Given the description of an element on the screen output the (x, y) to click on. 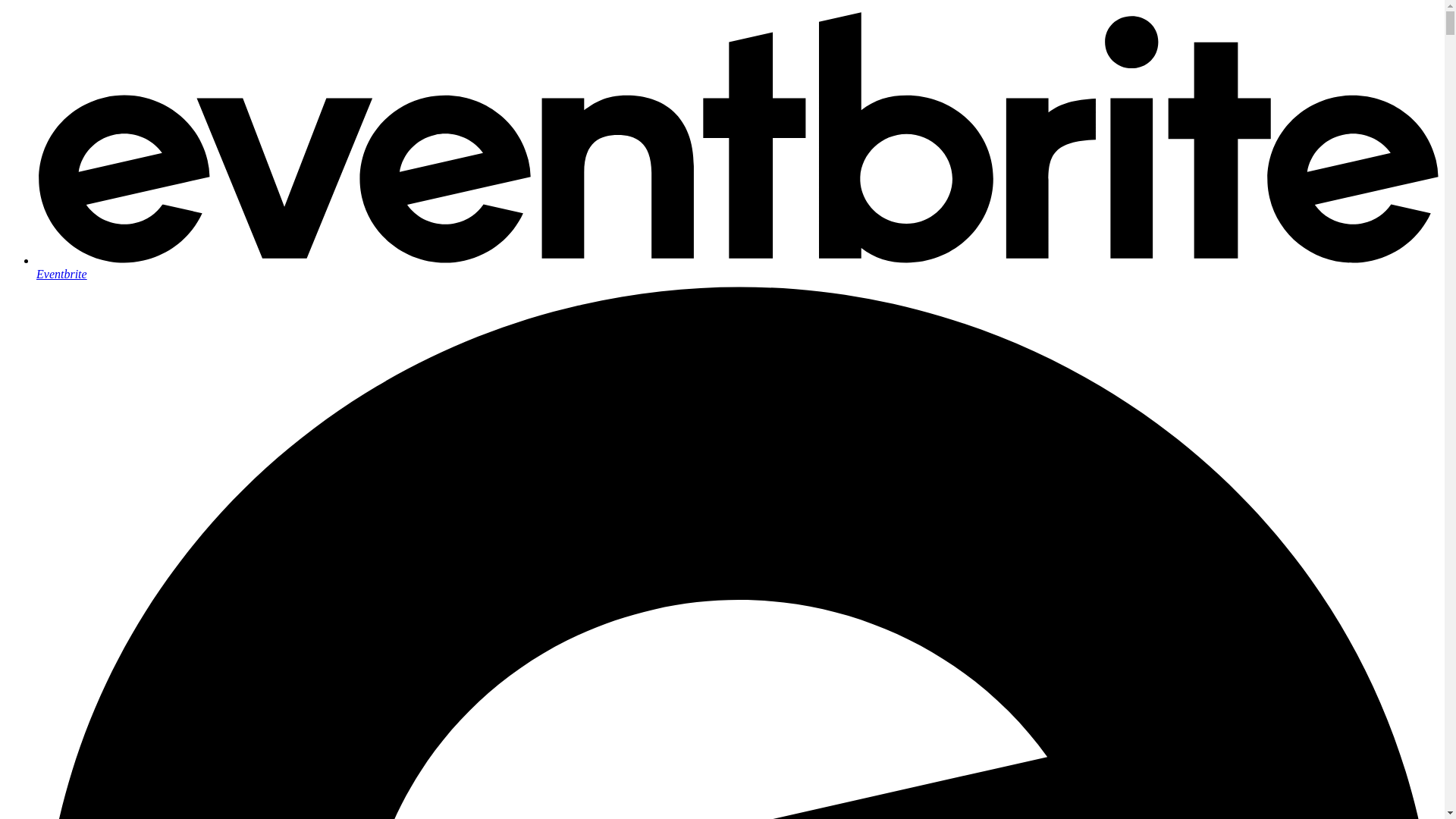
Eventbrite Element type: text (737, 267)
